Given the description of an element on the screen output the (x, y) to click on. 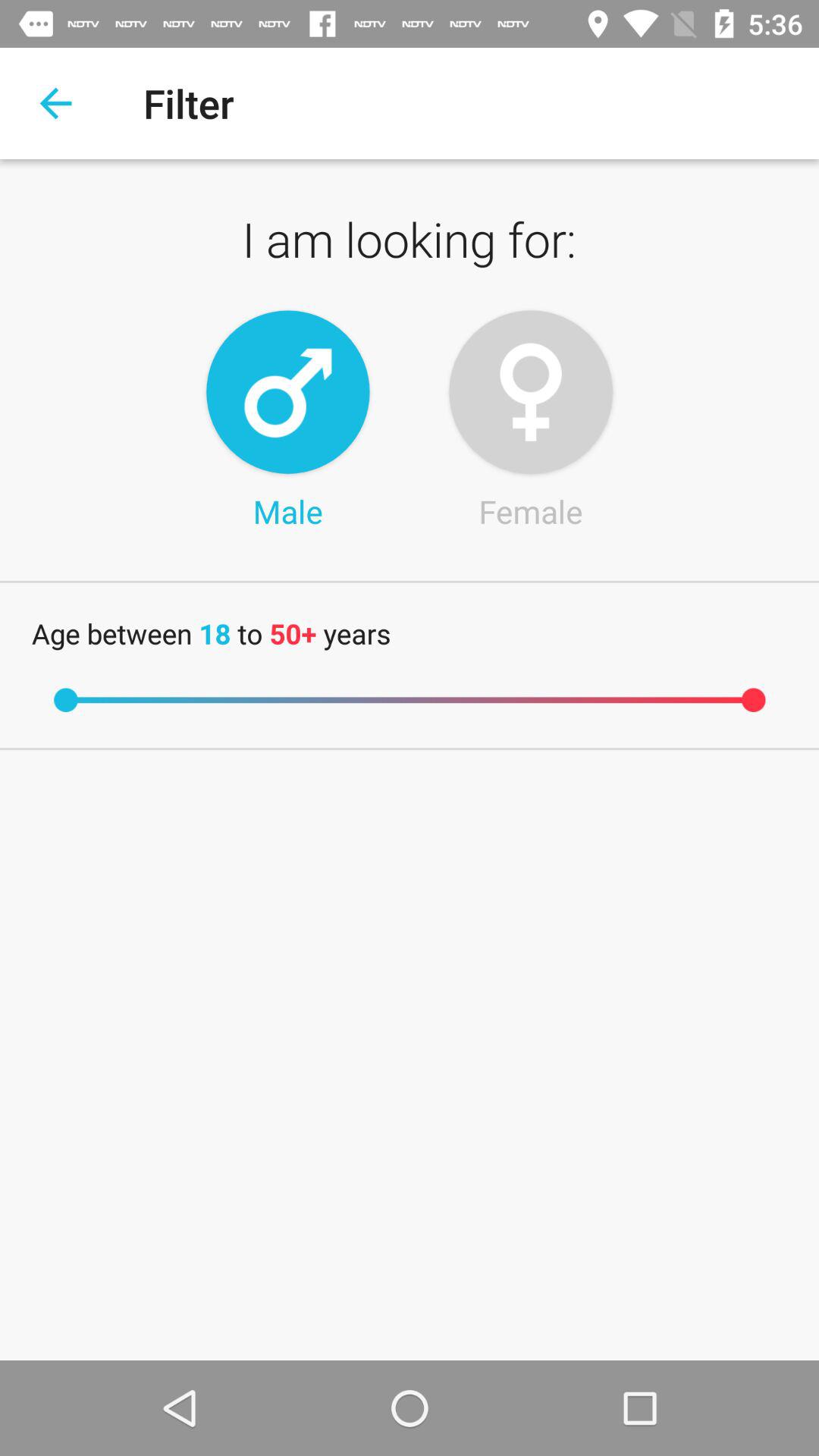
click the icon to the left of filter icon (55, 103)
